Given the description of an element on the screen output the (x, y) to click on. 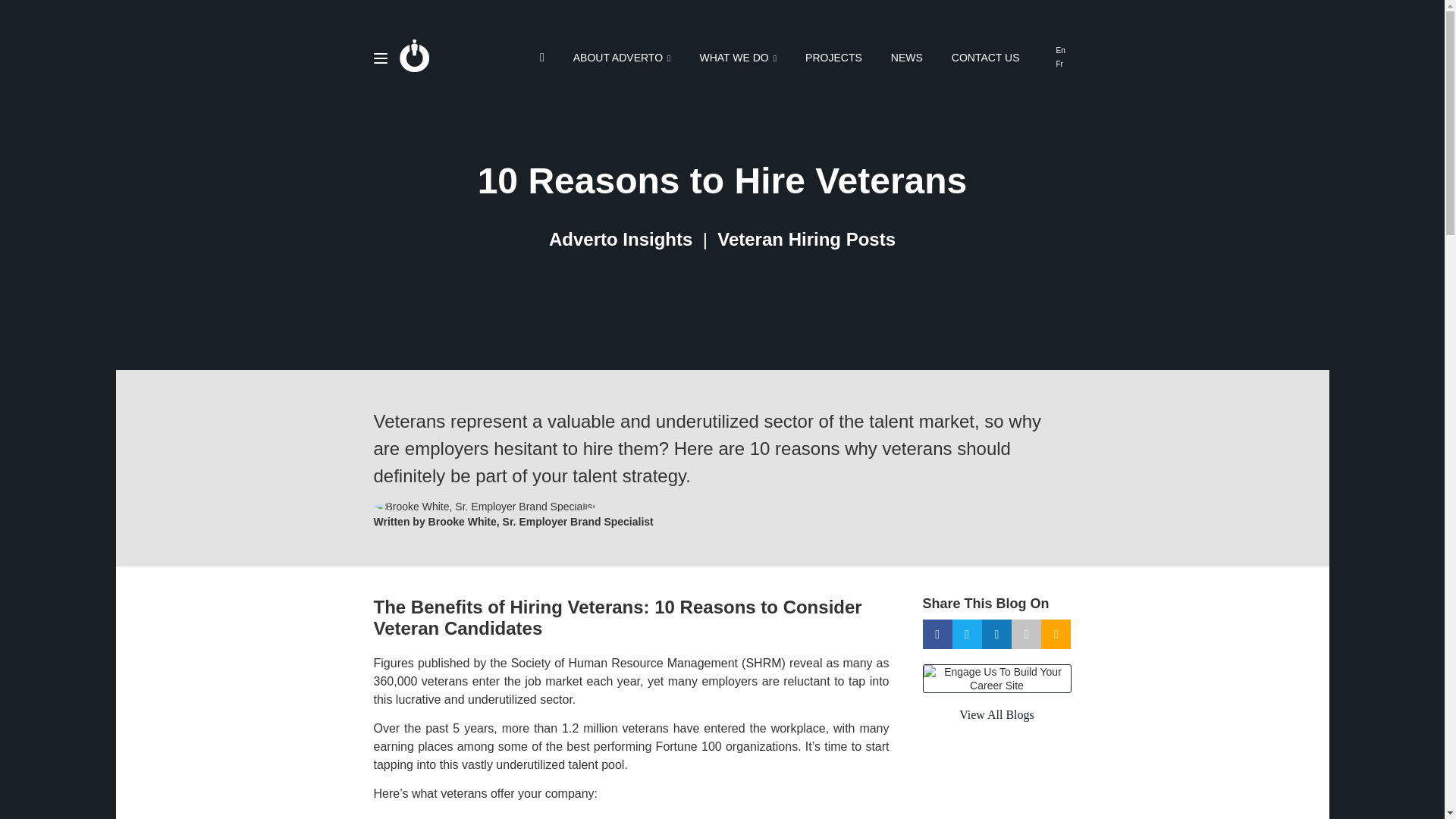
ABOUT ADVERTO (622, 57)
WHAT WE DO (737, 57)
PROJECTS (833, 57)
NEWS (906, 57)
Adverto Insights (620, 238)
CONTACT US (985, 57)
Veteran Hiring Posts (806, 238)
